Given the description of an element on the screen output the (x, y) to click on. 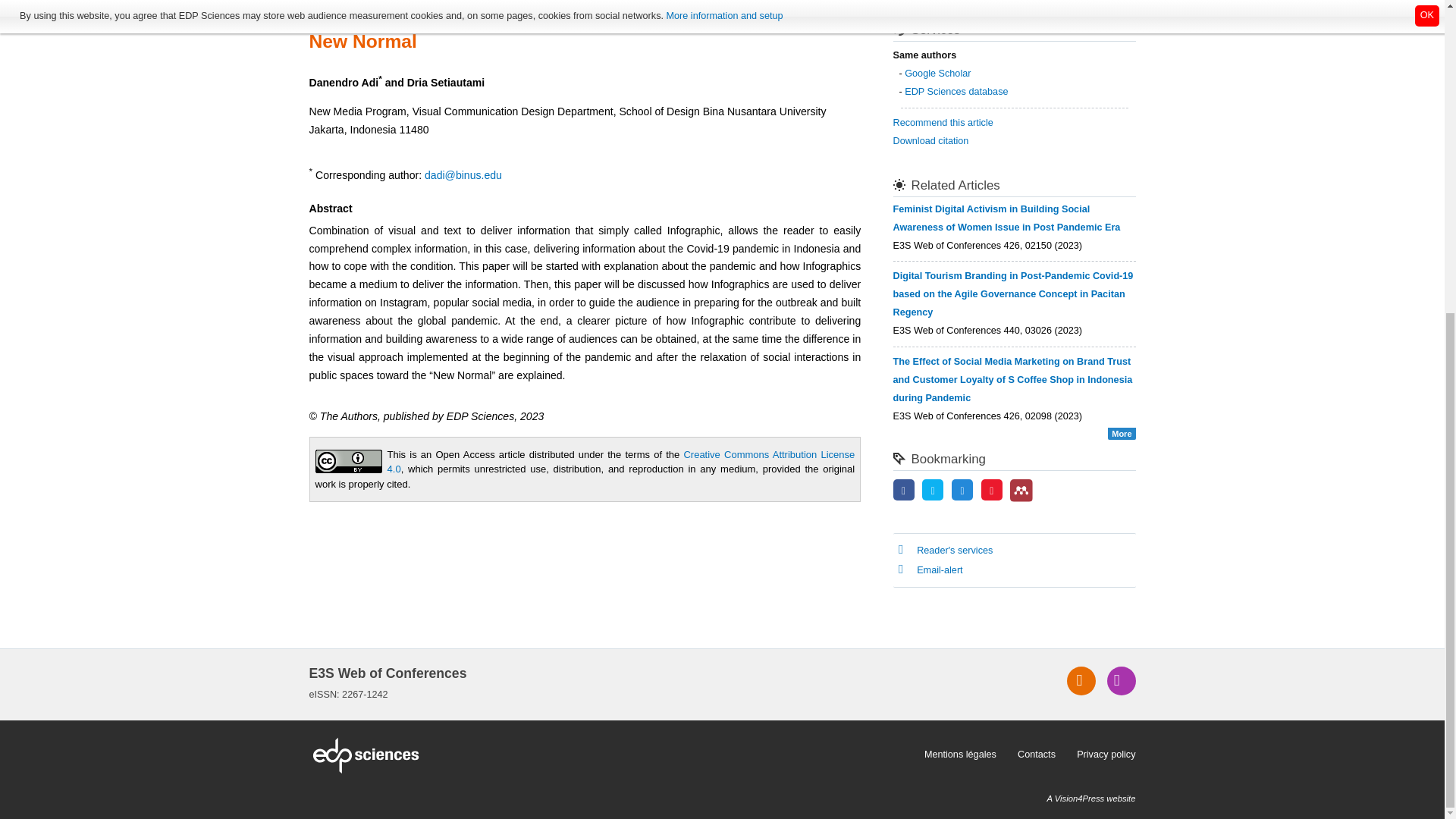
Mendeley (1021, 490)
